Given the description of an element on the screen output the (x, y) to click on. 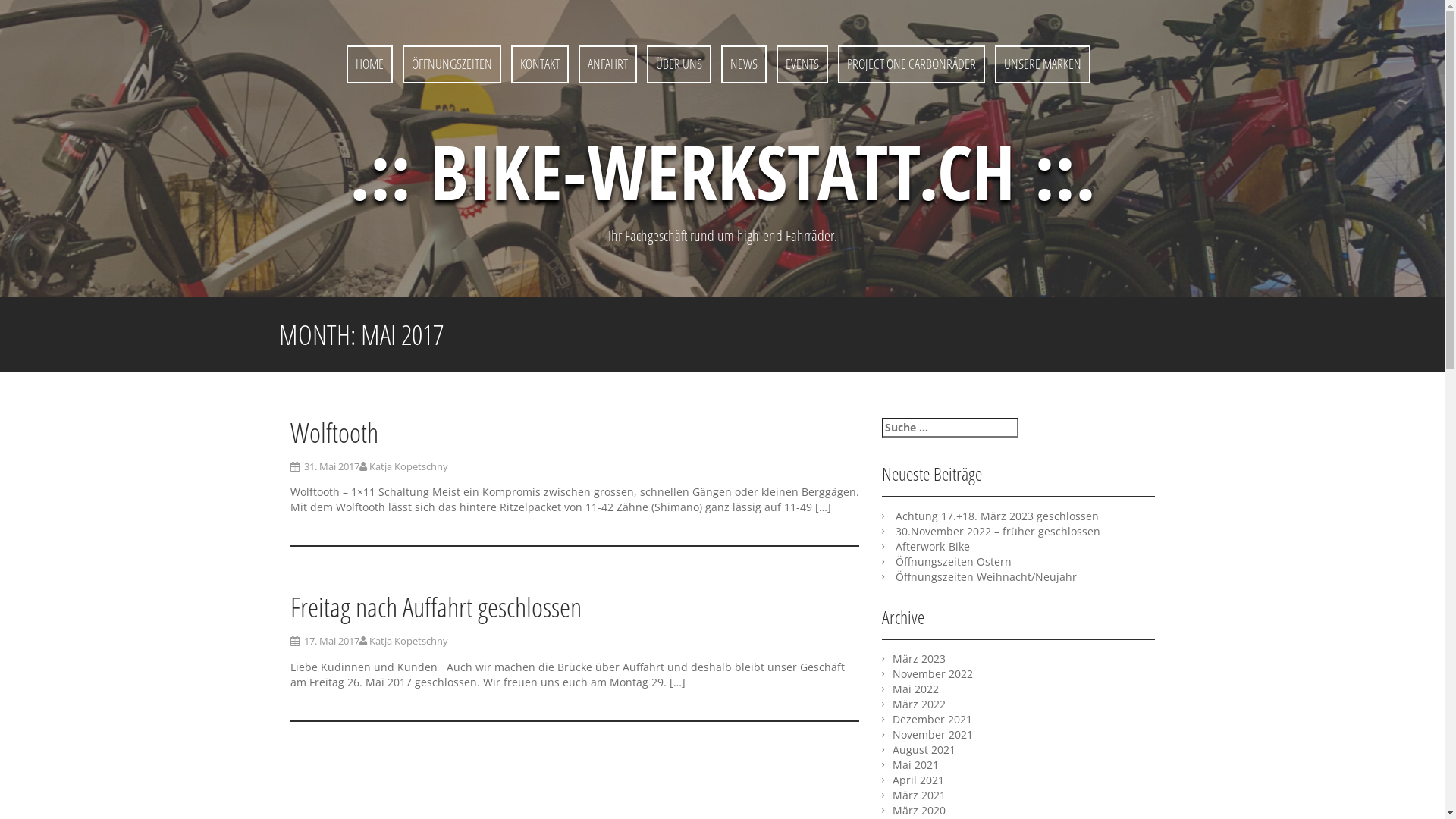
Dezember 2021 Element type: text (931, 719)
April 2021 Element type: text (917, 779)
31. Mai 2017 Element type: text (330, 466)
November 2021 Element type: text (931, 734)
Katja Kopetschny Element type: text (407, 640)
.:: BIKE-WERKSTATT.CH ::. Element type: text (721, 170)
August 2021 Element type: text (922, 749)
HOME Element type: text (369, 64)
November 2022 Element type: text (931, 673)
Mai 2022 Element type: text (914, 688)
Wolftooth Element type: text (333, 432)
ANFAHRT Element type: text (607, 64)
EVENTS Element type: text (802, 64)
NEWS Element type: text (743, 64)
Mai 2021 Element type: text (914, 764)
KONTAKT Element type: text (539, 64)
Afterwork-Bike Element type: text (931, 546)
17. Mai 2017 Element type: text (330, 640)
Suche Element type: text (21, 9)
UNSERE MARKEN Element type: text (1042, 64)
Freitag nach Auffahrt geschlossen Element type: text (434, 606)
Katja Kopetschny Element type: text (407, 466)
